Given the description of an element on the screen output the (x, y) to click on. 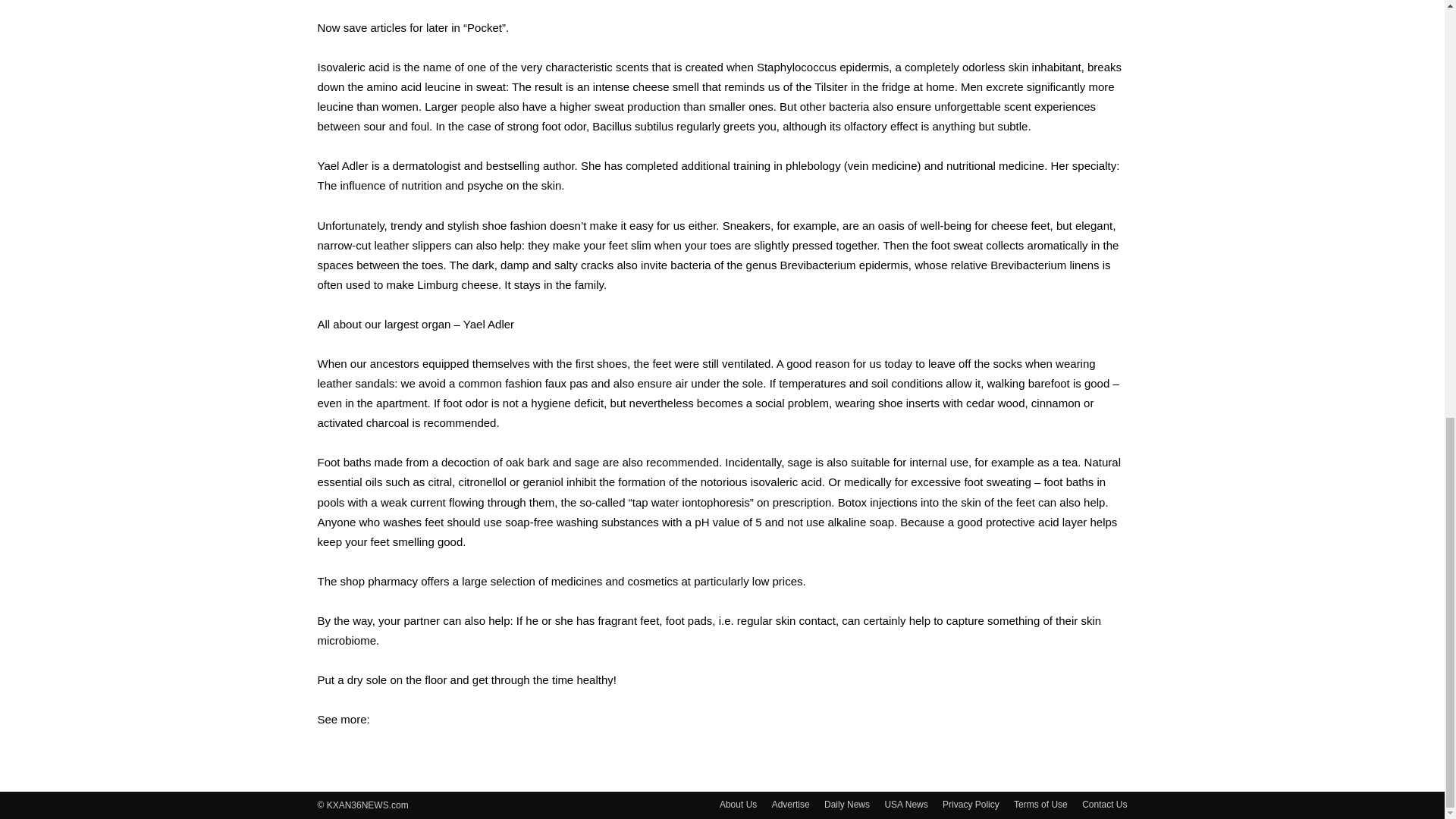
Advertise (790, 804)
Daily News (846, 804)
Terms of Use (1040, 804)
About Us (738, 804)
Privacy Policy (970, 804)
USA News (905, 804)
Contact Us (1103, 804)
